Given the description of an element on the screen output the (x, y) to click on. 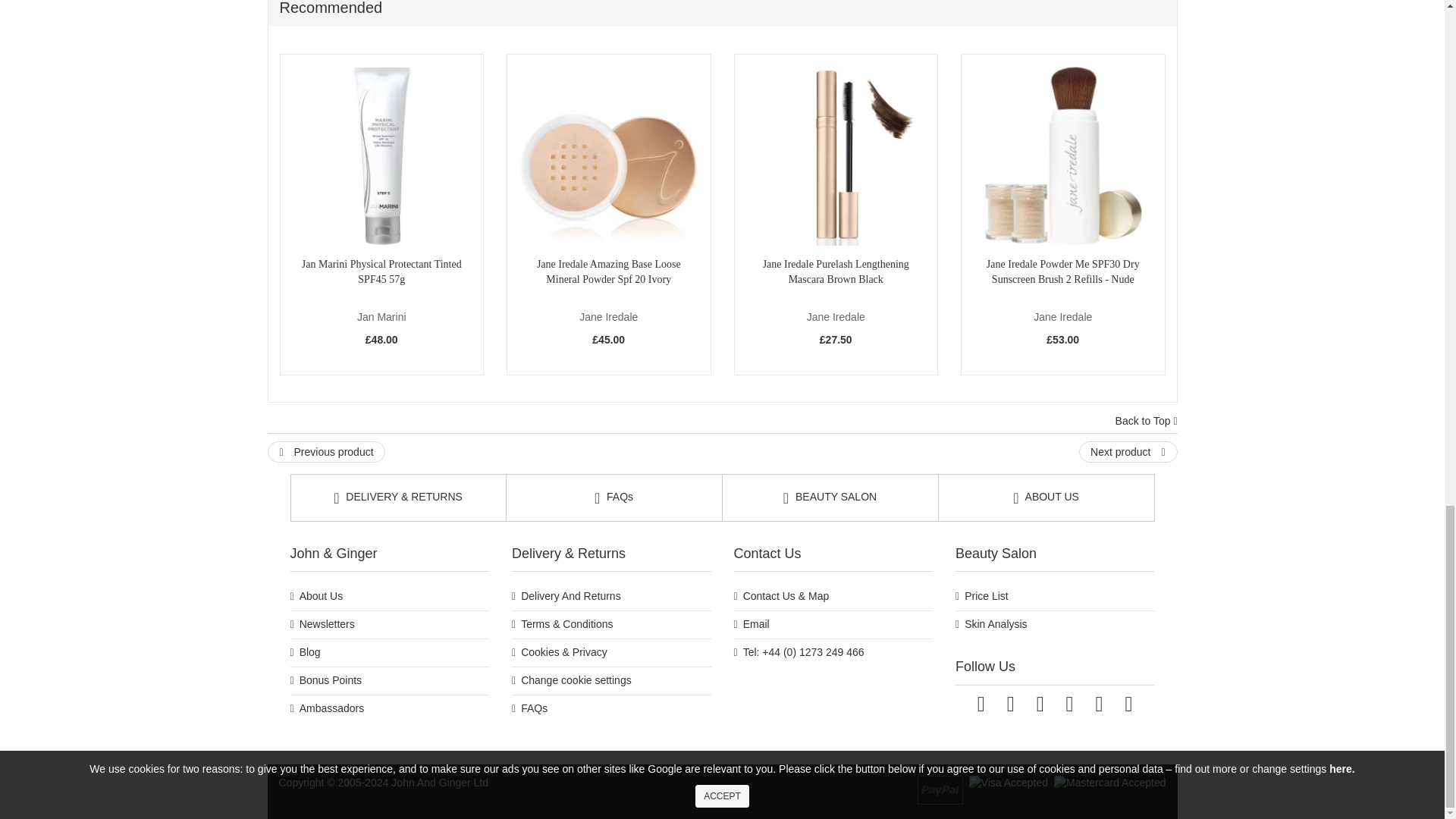
Jane Iredale Amazing Base Loose Mineral Powder Spf 20 Ivory (608, 156)
Back to Top (1146, 421)
Jane Iredale Purelash Lengthening Mascara Brown Black (835, 156)
Jan Marini Physical Protectant Tinted SPF45 57g (381, 156)
